Given the description of an element on the screen output the (x, y) to click on. 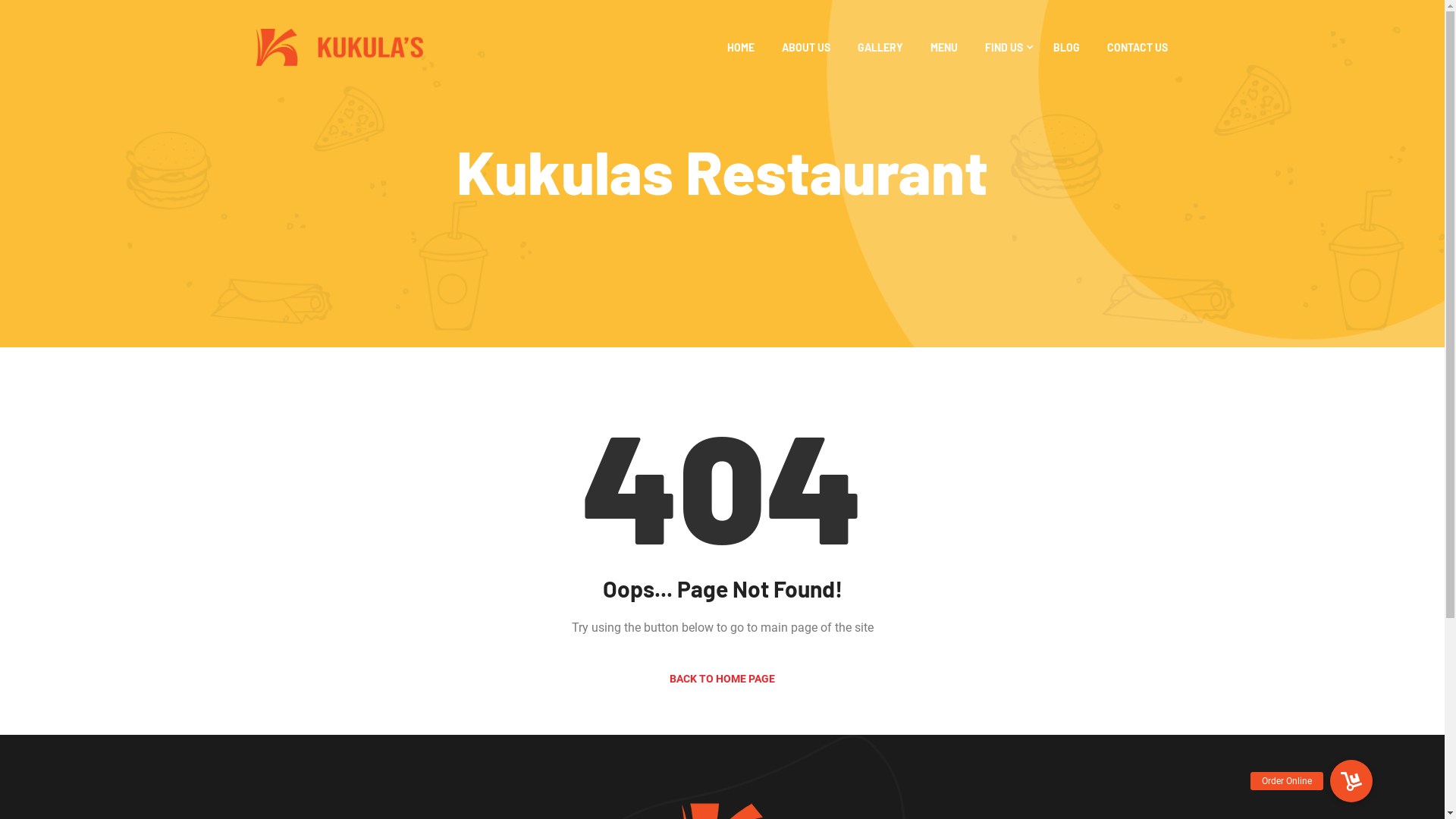
FIND US Element type: text (1005, 47)
MENU Element type: text (943, 47)
BACK TO HOME PAGE Element type: text (722, 678)
CONTACT US Element type: text (1137, 47)
ABOUT US Element type: text (805, 47)
BLOG Element type: text (1065, 47)
Order Online Element type: text (1351, 780)
GALLERY Element type: text (880, 47)
HOME Element type: text (740, 47)
